Given the description of an element on the screen output the (x, y) to click on. 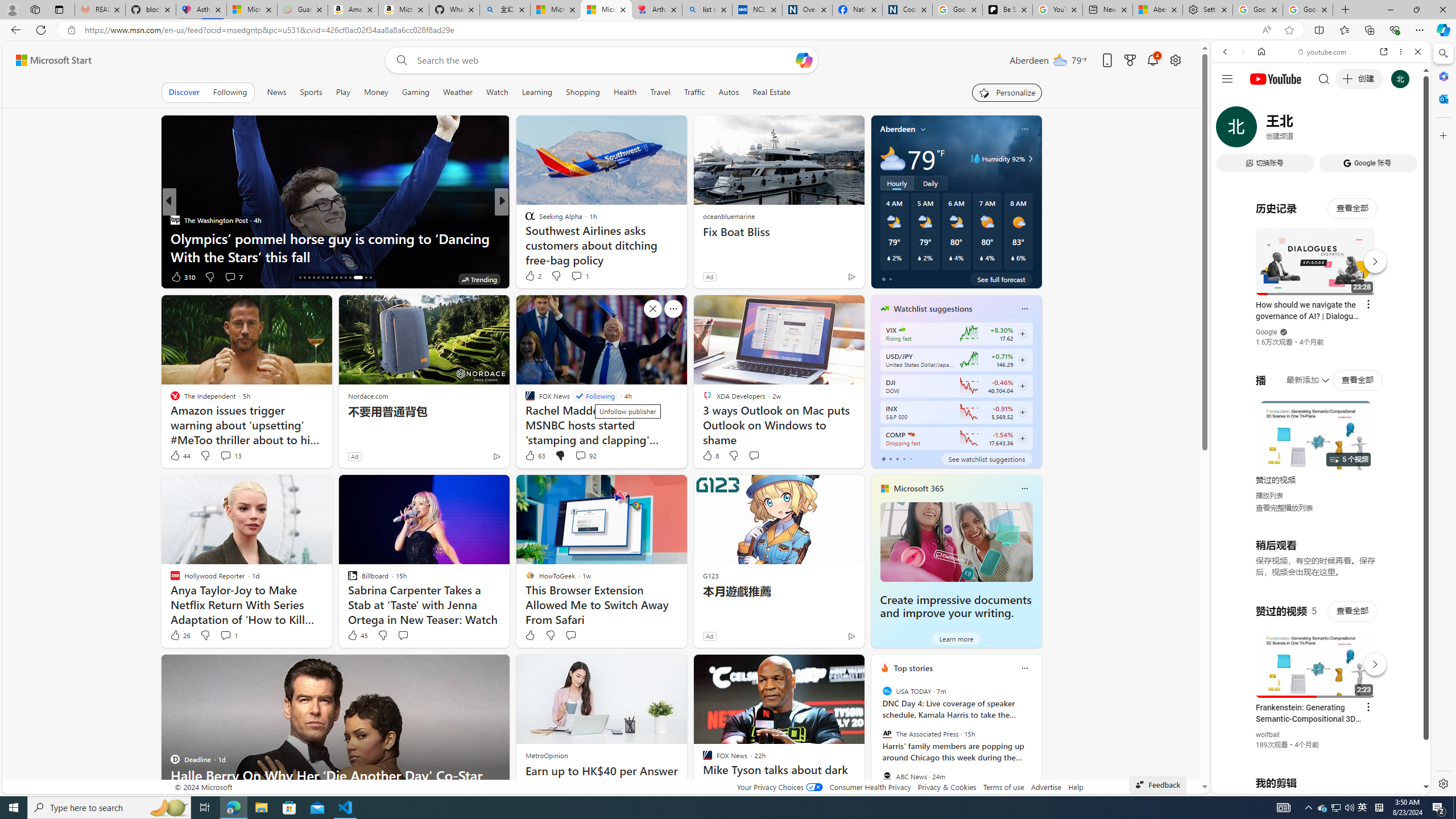
Search Filter, Search Tools (1350, 129)
Side bar (1443, 418)
Trailer #2 [HD] (1320, 337)
AutomationID: tab-30 (370, 277)
Music (1320, 309)
Microsoft-Report a Concern to Bing (251, 9)
Open Copilot (803, 59)
Top stories (913, 668)
#you (1315, 659)
tab-3 (903, 458)
Start the conversation (570, 635)
